Given the description of an element on the screen output the (x, y) to click on. 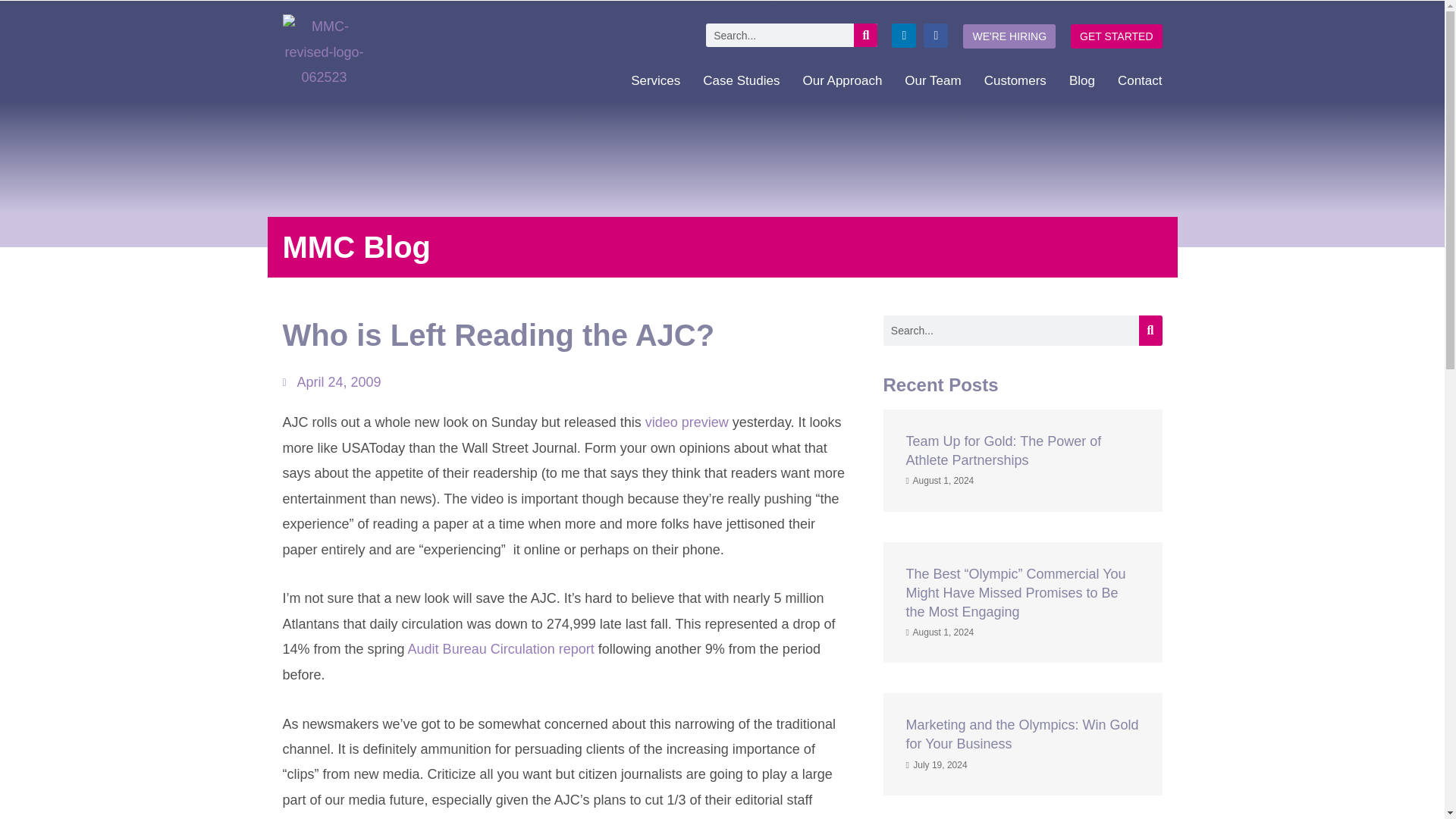
Our Approach (841, 80)
Linkedin-in (903, 35)
Contact (1139, 80)
Blog (1081, 80)
Services (655, 80)
Customers (1015, 80)
Search (865, 34)
Case Studies (741, 80)
Facebook-f (935, 35)
WE'RE HIRING (1008, 36)
